Given the description of an element on the screen output the (x, y) to click on. 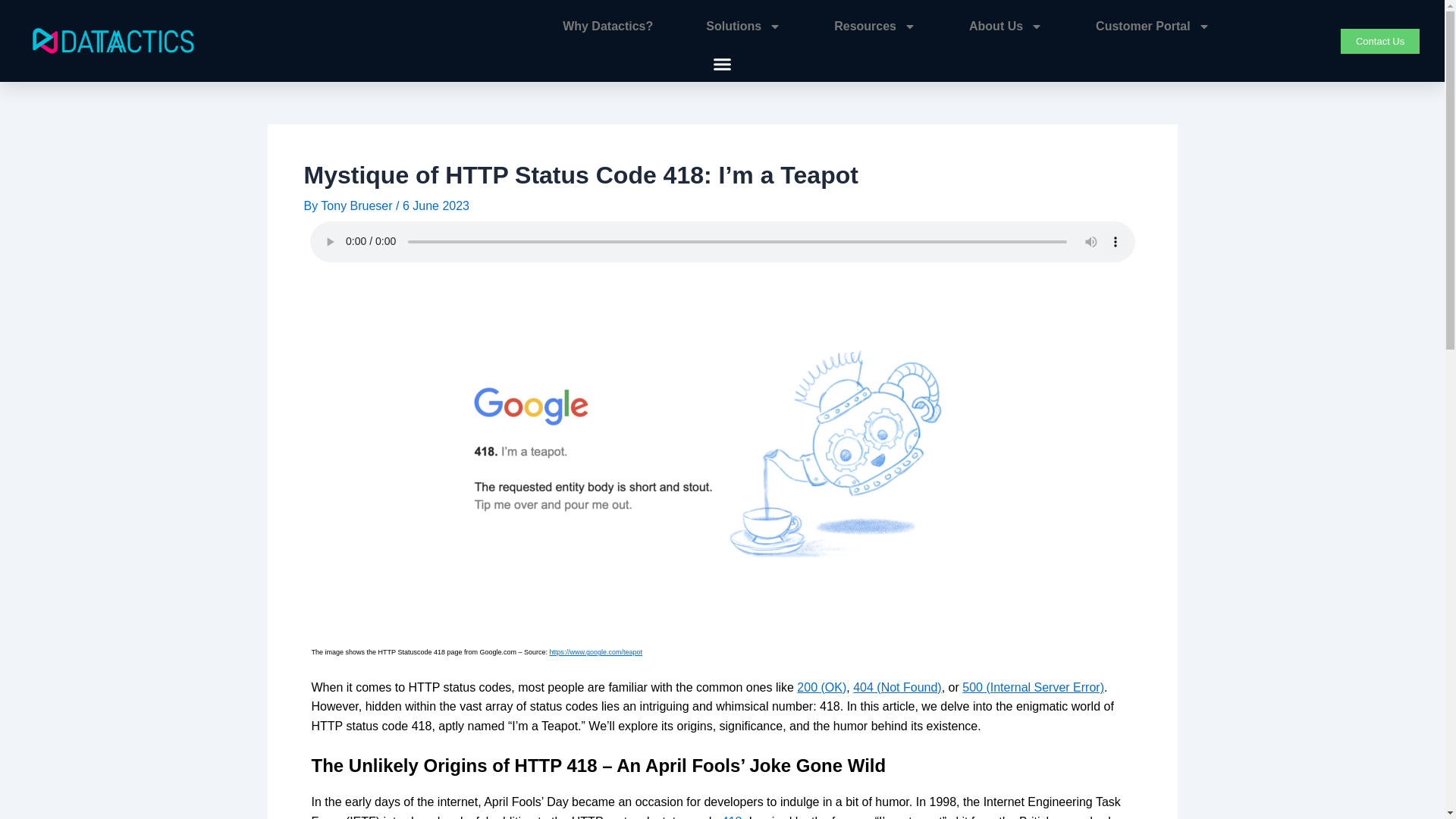
About Us (1004, 26)
Customer Portal (1152, 26)
Why Datactics? (607, 26)
Resources (875, 26)
View all posts by Tony Brueser (358, 205)
Solutions (743, 26)
